Given the description of an element on the screen output the (x, y) to click on. 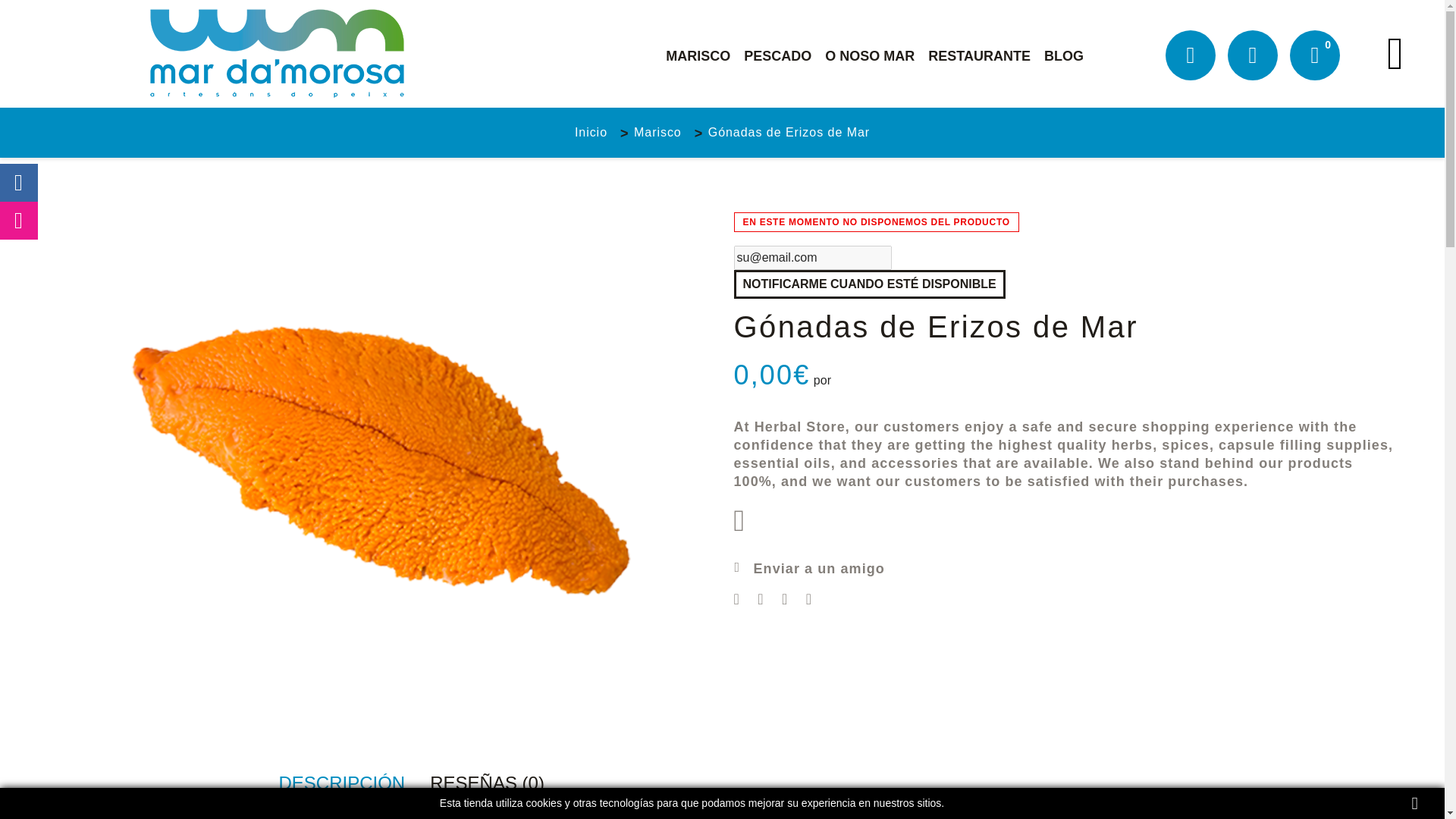
Blog (1063, 55)
PESCADO (777, 55)
BLOG (1063, 55)
O NOSO MAR (869, 55)
O Noso Mar (869, 55)
Ver mi carrito de compra (1314, 55)
Mar da Morosa (276, 53)
Marisco (697, 55)
Marisco (657, 132)
RESTAURANTE (979, 55)
Enviar a un amigo (809, 568)
Marisco (657, 132)
Volver a Inicio (591, 132)
0 (1314, 55)
Pescado (777, 55)
